Given the description of an element on the screen output the (x, y) to click on. 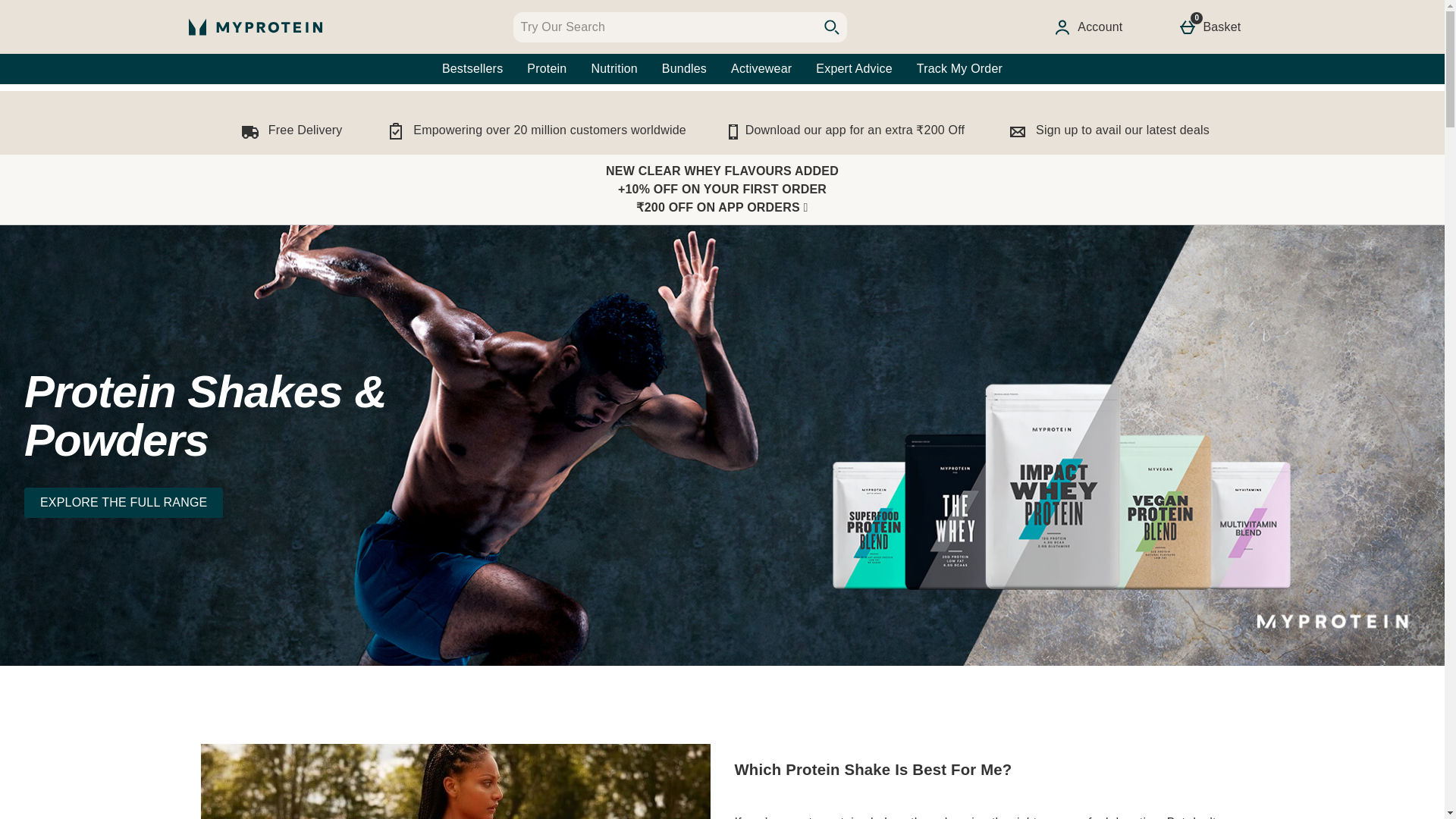
Account (1090, 27)
Skip to main content (55, 96)
Bestsellers (472, 69)
Nutrition (613, 69)
Start search (830, 27)
Protein (1212, 27)
